Given the description of an element on the screen output the (x, y) to click on. 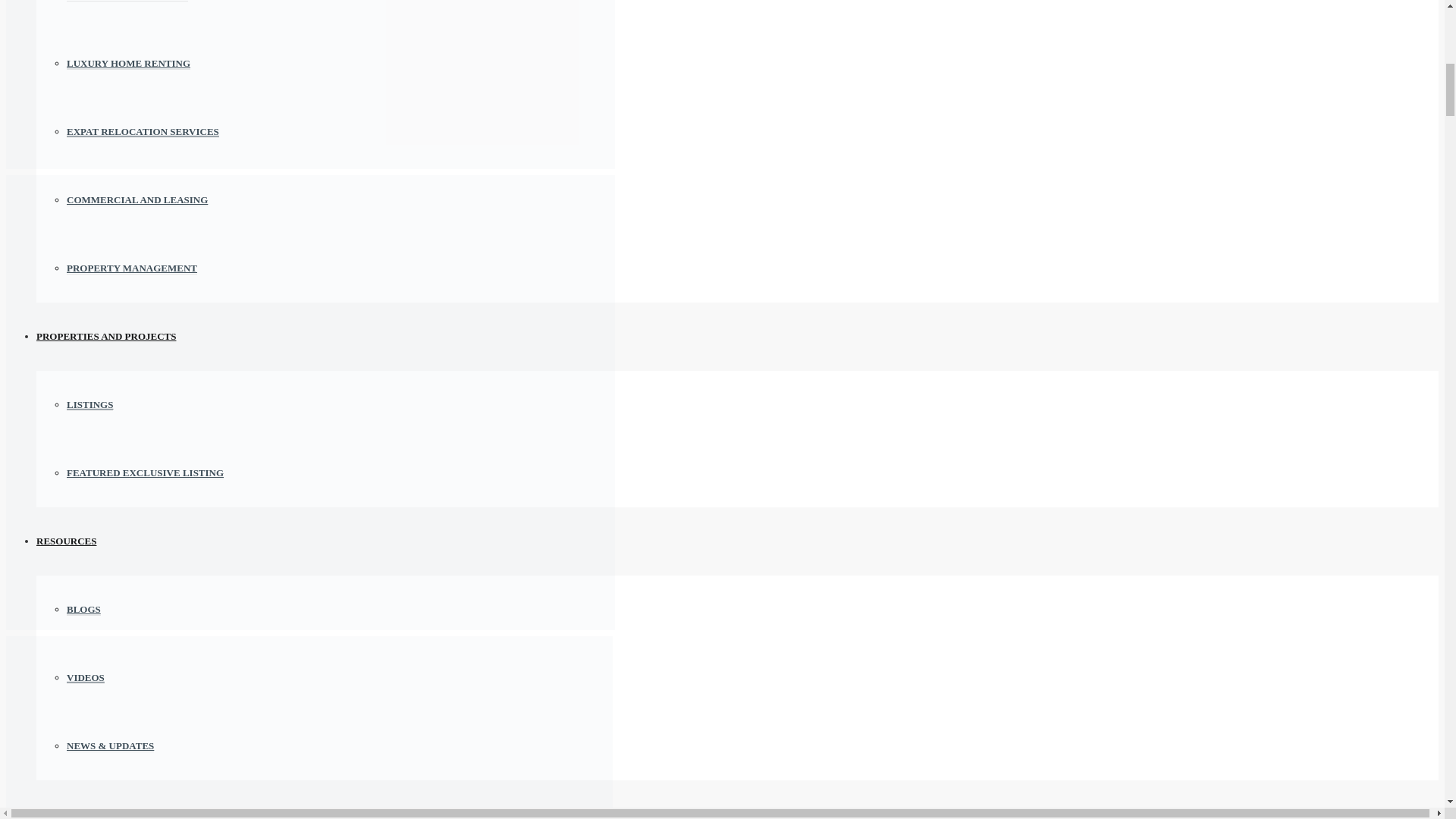
LUXURY HOME SELLING (126, 0)
VIDEOS (85, 677)
LISTINGS (89, 404)
FEATURED EXCLUSIVE LISTING (145, 472)
PROPERTY MANAGEMENT (131, 268)
CONTACT (60, 813)
BLOGS (83, 609)
PROPERTIES AND PROJECTS (106, 336)
EXPAT RELOCATION SERVICES (142, 132)
COMMERCIAL AND LEASING (137, 200)
